Given the description of an element on the screen output the (x, y) to click on. 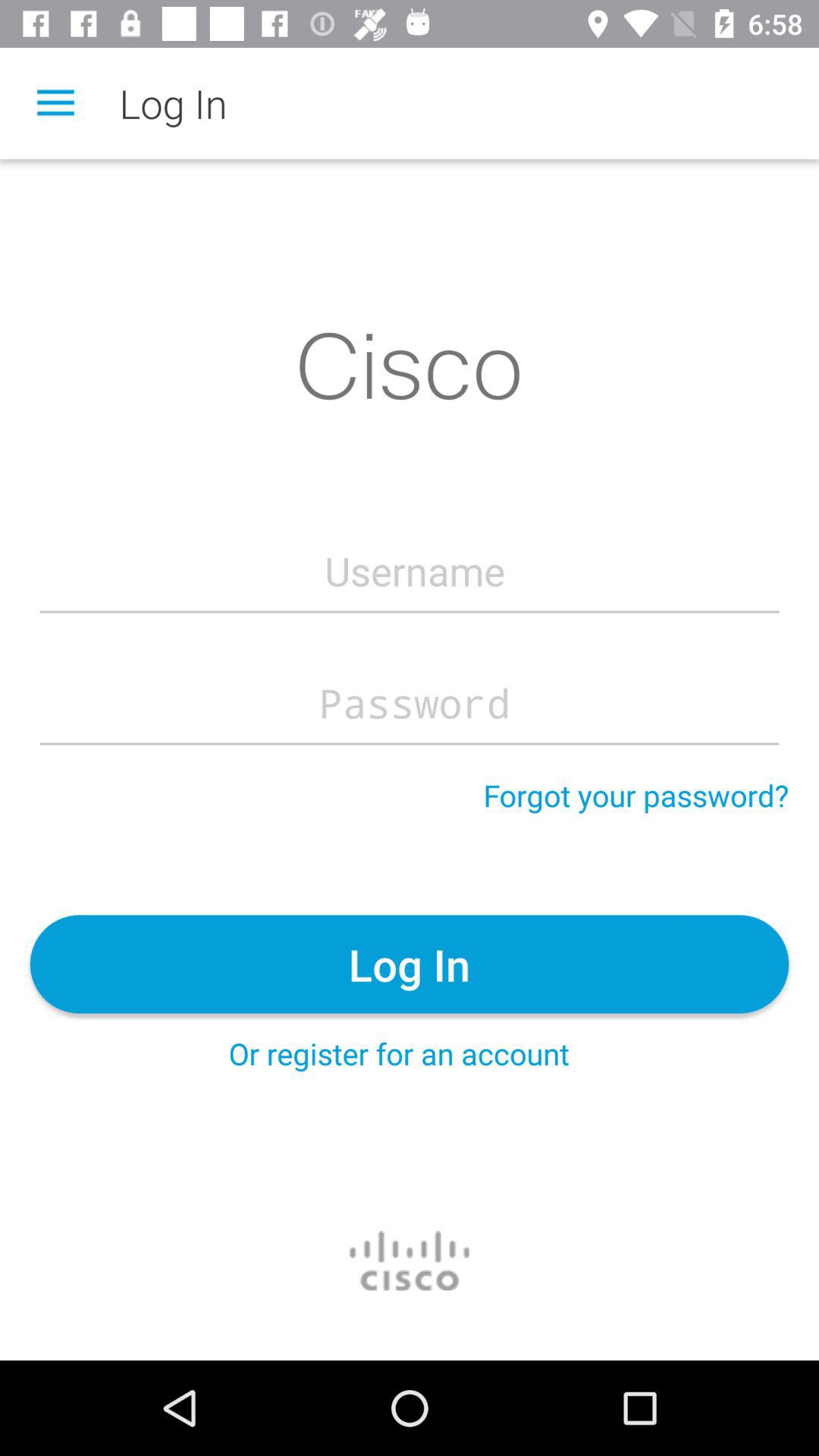
open icon above the log in icon (635, 795)
